Given the description of an element on the screen output the (x, y) to click on. 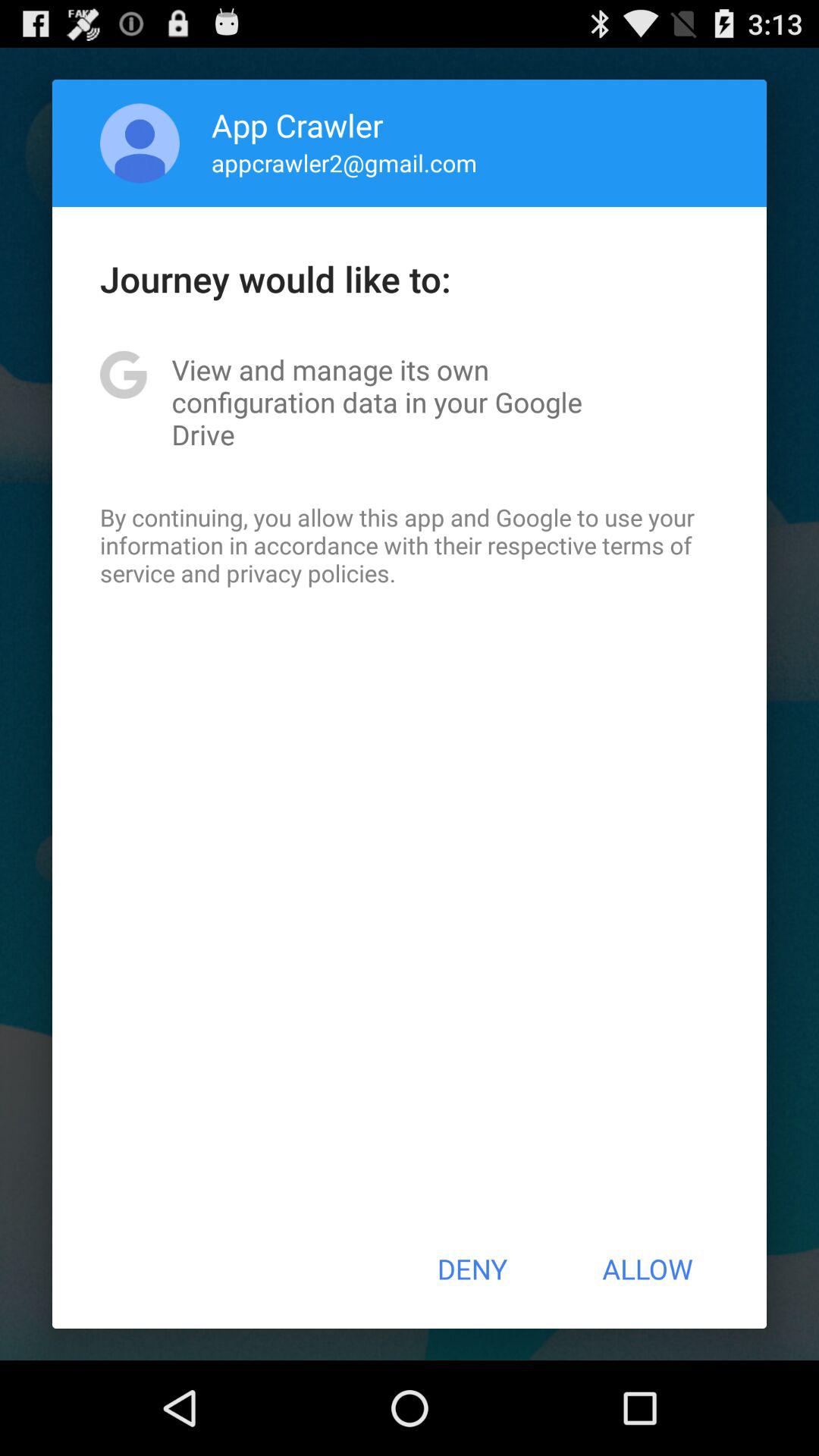
swipe to app crawler (297, 124)
